Given the description of an element on the screen output the (x, y) to click on. 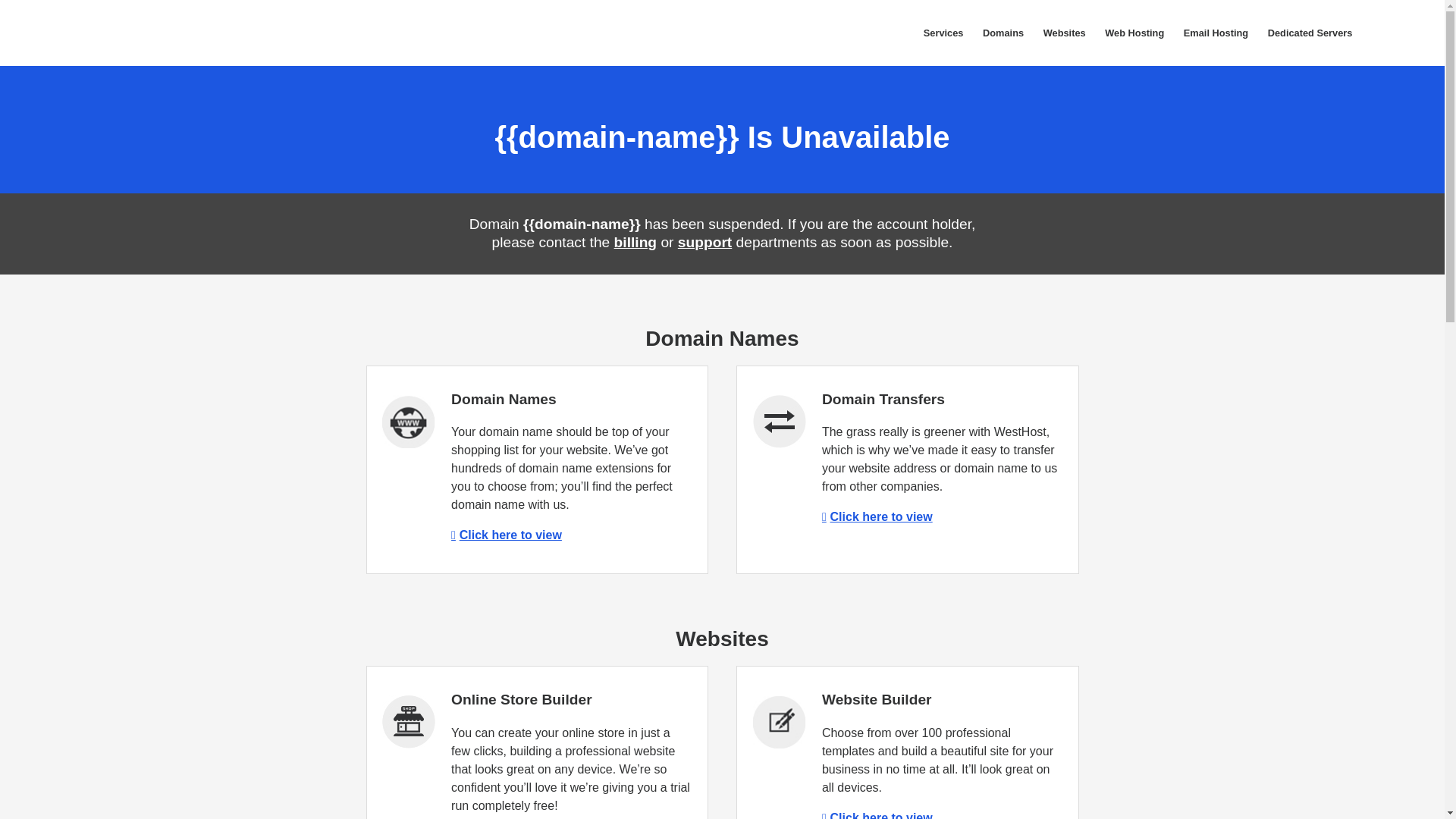
Services (943, 32)
support (705, 242)
Email Hosting (1215, 32)
Click here to view (877, 815)
Click here to view (506, 534)
Web Hosting (1133, 32)
Dedicated Servers (1309, 32)
billing (636, 242)
Websites (1064, 32)
Click here to view (877, 516)
Domains (1002, 32)
